Given the description of an element on the screen output the (x, y) to click on. 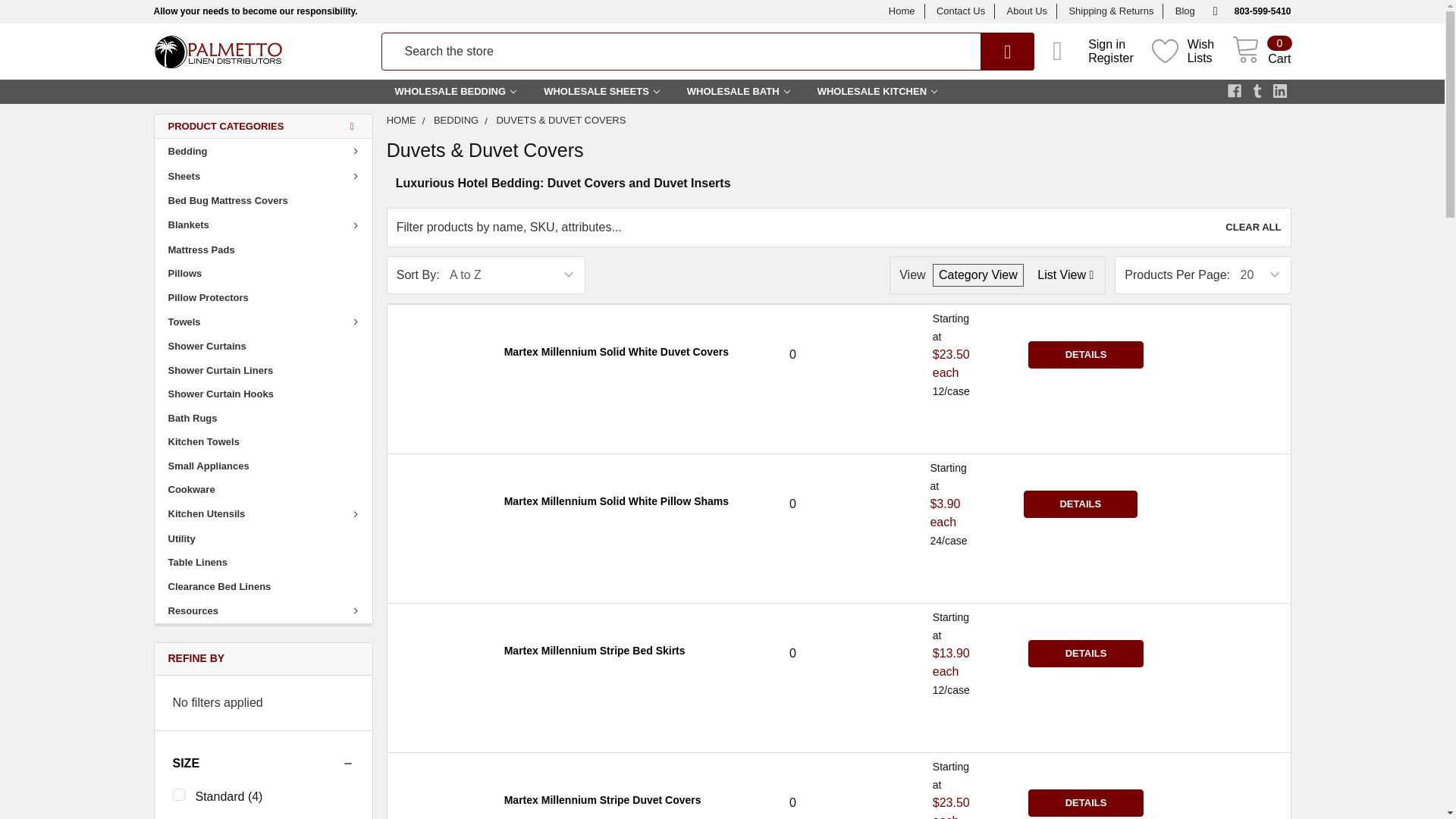
Martex Millennium Duvet Cover (439, 653)
Search (986, 51)
Search (986, 51)
Martex Millennium Solid White (439, 504)
Bulk Order (1064, 275)
5 (978, 275)
803-599-5410 (1249, 11)
Palmettolinen.com (218, 51)
Cart (1260, 51)
Martex Millennium Stripe Duvet Cover (439, 791)
